Given the description of an element on the screen output the (x, y) to click on. 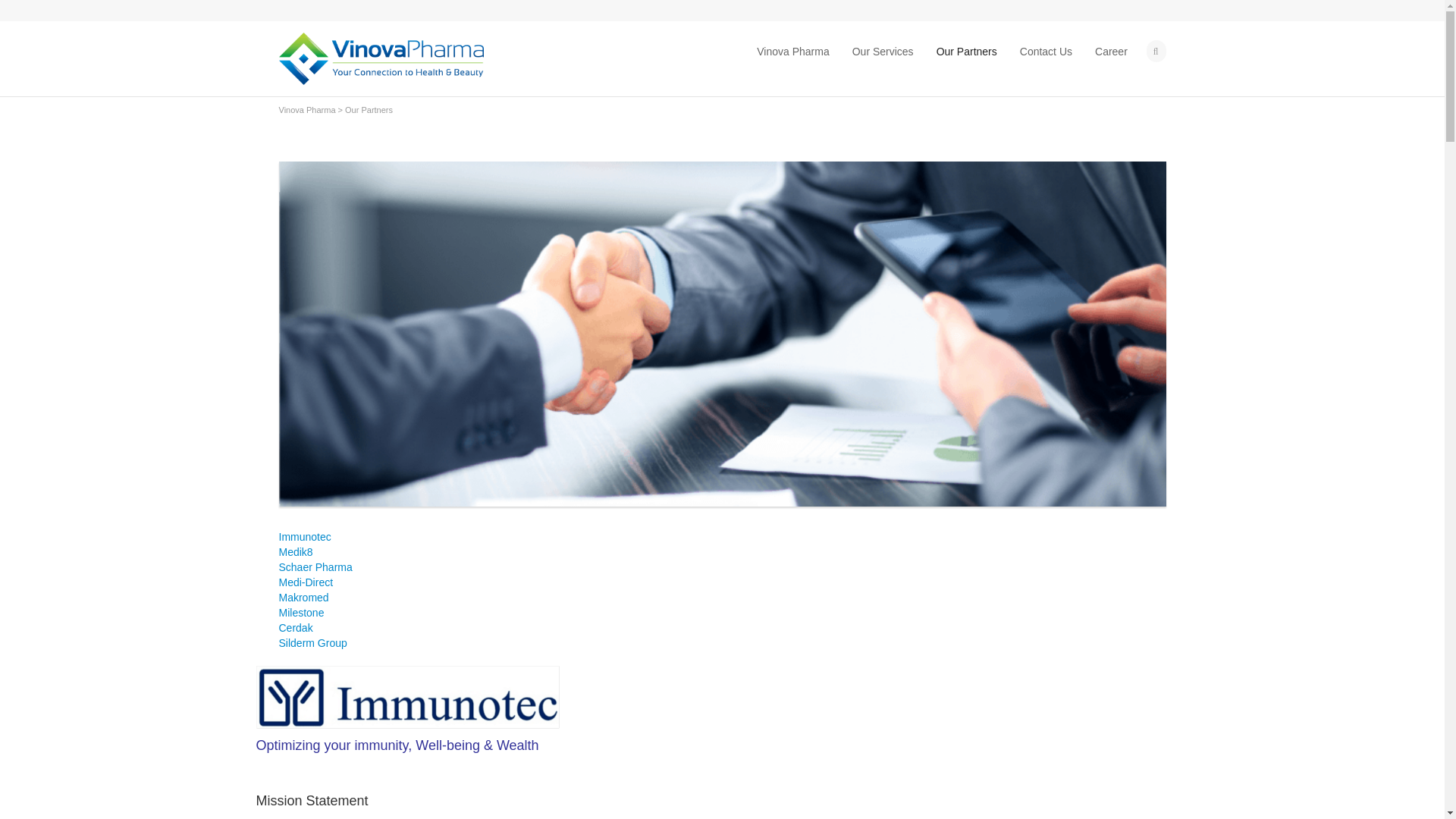
Facebook (308, 11)
Makromed (304, 597)
Silderm Group (313, 643)
Medi-Direct (306, 582)
Immunocal Malaysia (407, 696)
LinkedIn (331, 11)
Medik8 (296, 551)
Vinova Pharma (307, 109)
Milestone (301, 612)
Career (1110, 51)
